Given the description of an element on the screen output the (x, y) to click on. 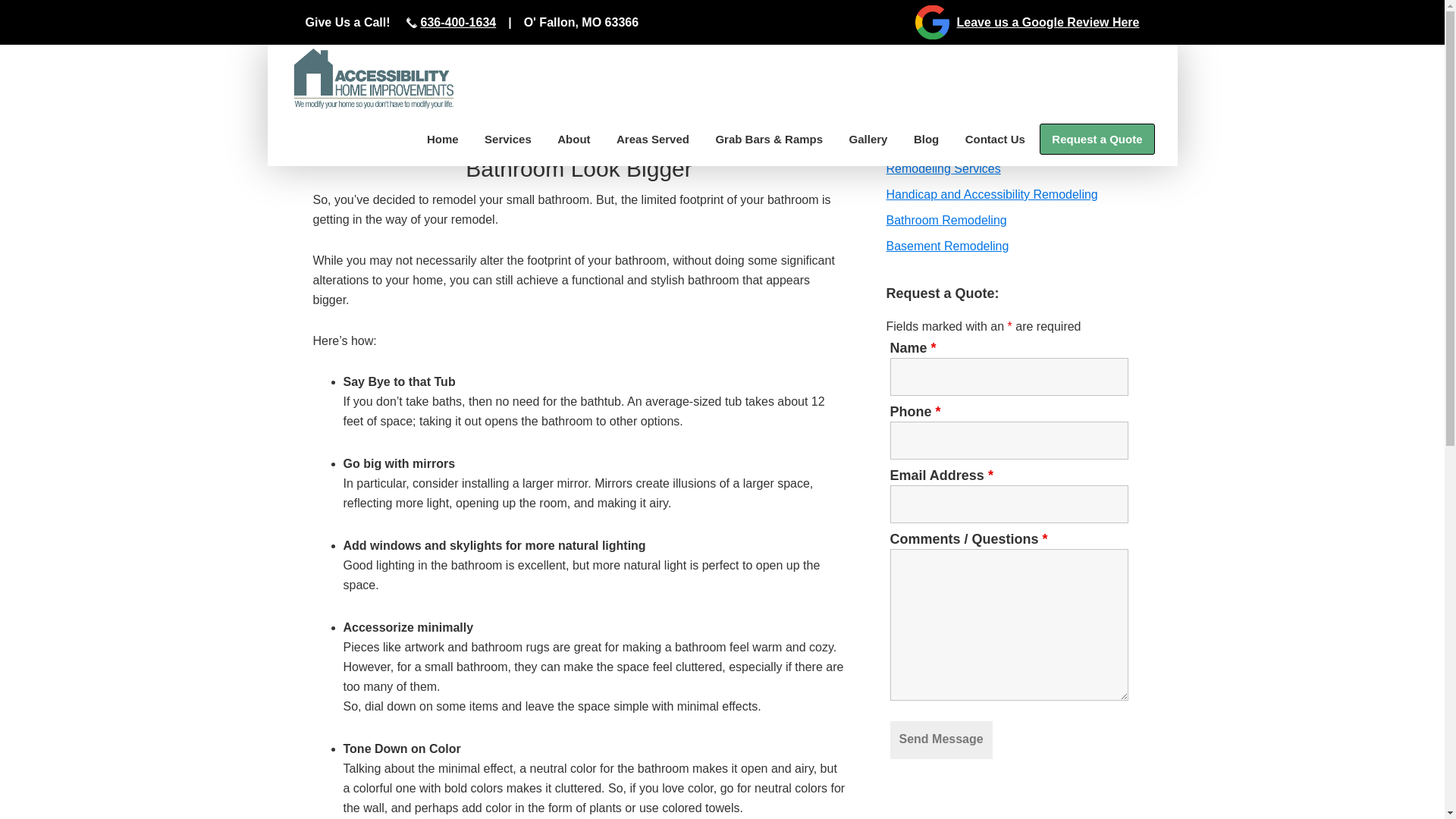
Home (442, 138)
636-400-1634 (458, 22)
Blog (926, 138)
Handicap and Accessibility Remodeling (991, 194)
Contact Us (994, 138)
Send Message (940, 739)
Services (508, 138)
Leave us a Google Review Here (930, 21)
Gallery (868, 138)
Areas Served (652, 138)
Request a Quote (1096, 138)
About (573, 138)
Remodeling Services (942, 168)
